Given the description of an element on the screen output the (x, y) to click on. 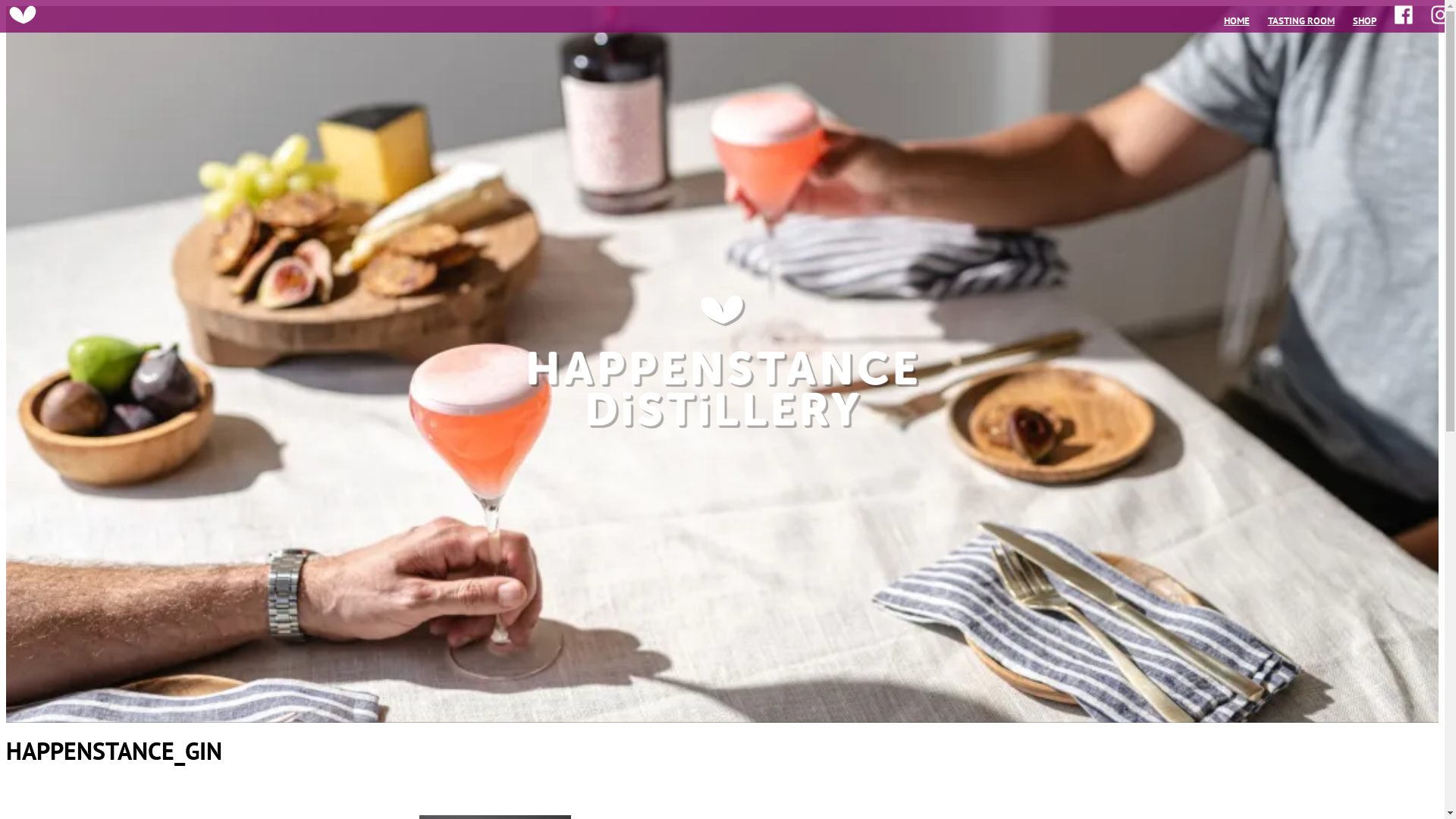
HOME Element type: text (1236, 20)
Skip to content Element type: text (5, 5)
carousel-2 Element type: hover (722, 364)
SHOP Element type: text (1364, 20)
TASTING ROOM Element type: text (1300, 20)
